Given the description of an element on the screen output the (x, y) to click on. 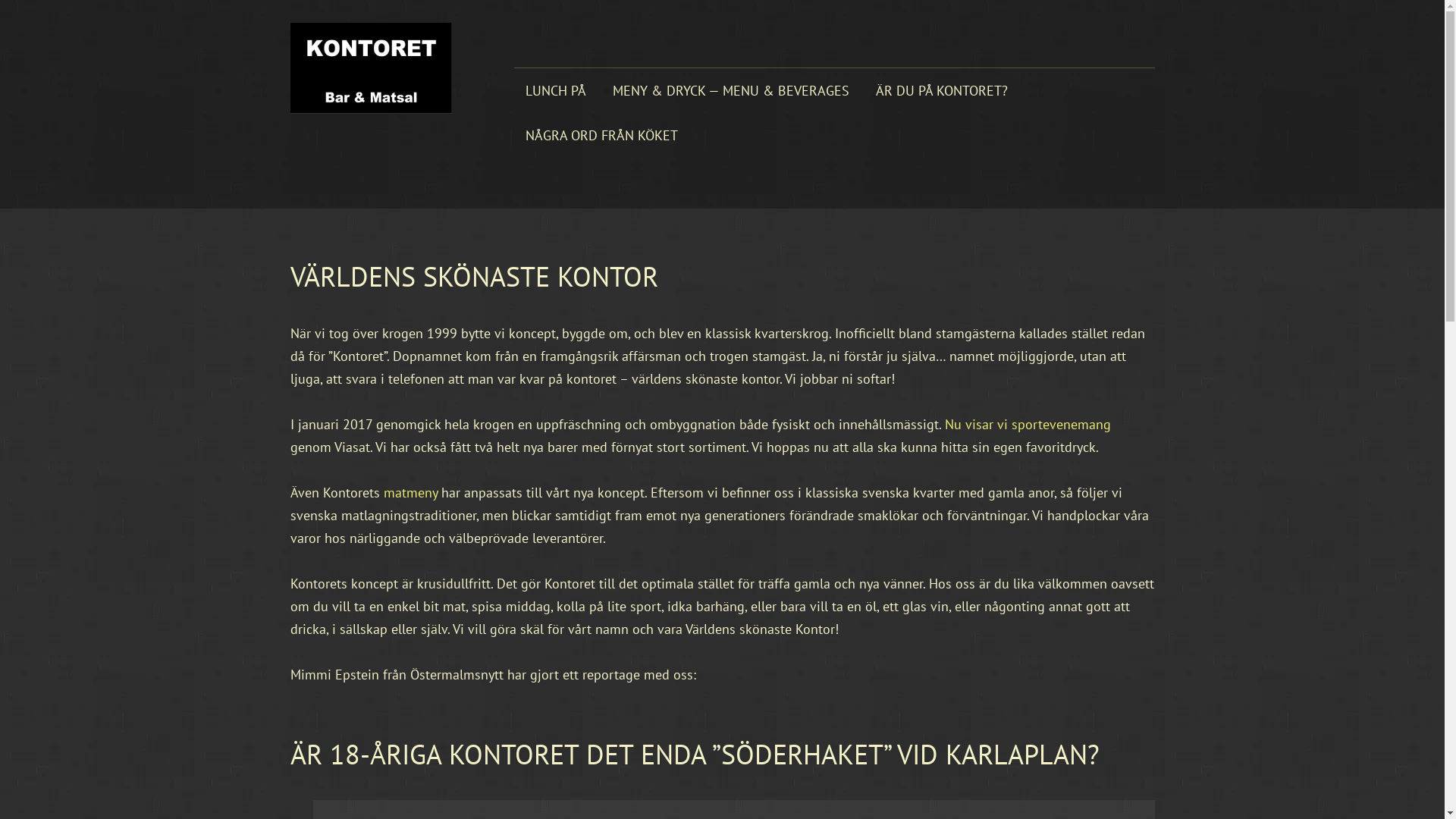
Kontoret Bar & Matsal Element type: hover (386, 67)
matmeny Element type: text (410, 492)
Nu visar vi sportevenemang Element type: text (1027, 424)
